Given the description of an element on the screen output the (x, y) to click on. 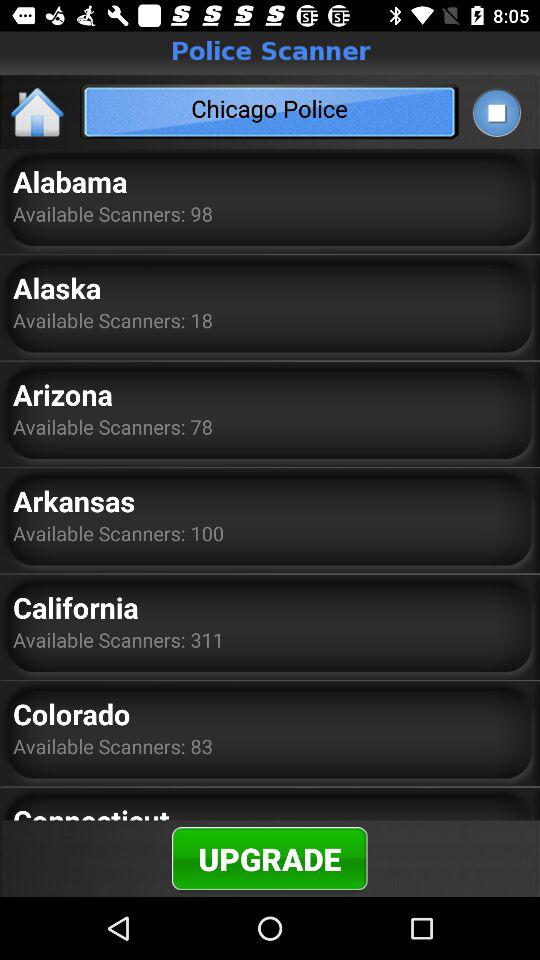
select the button to the left of upgrade (91, 810)
